Given the description of an element on the screen output the (x, y) to click on. 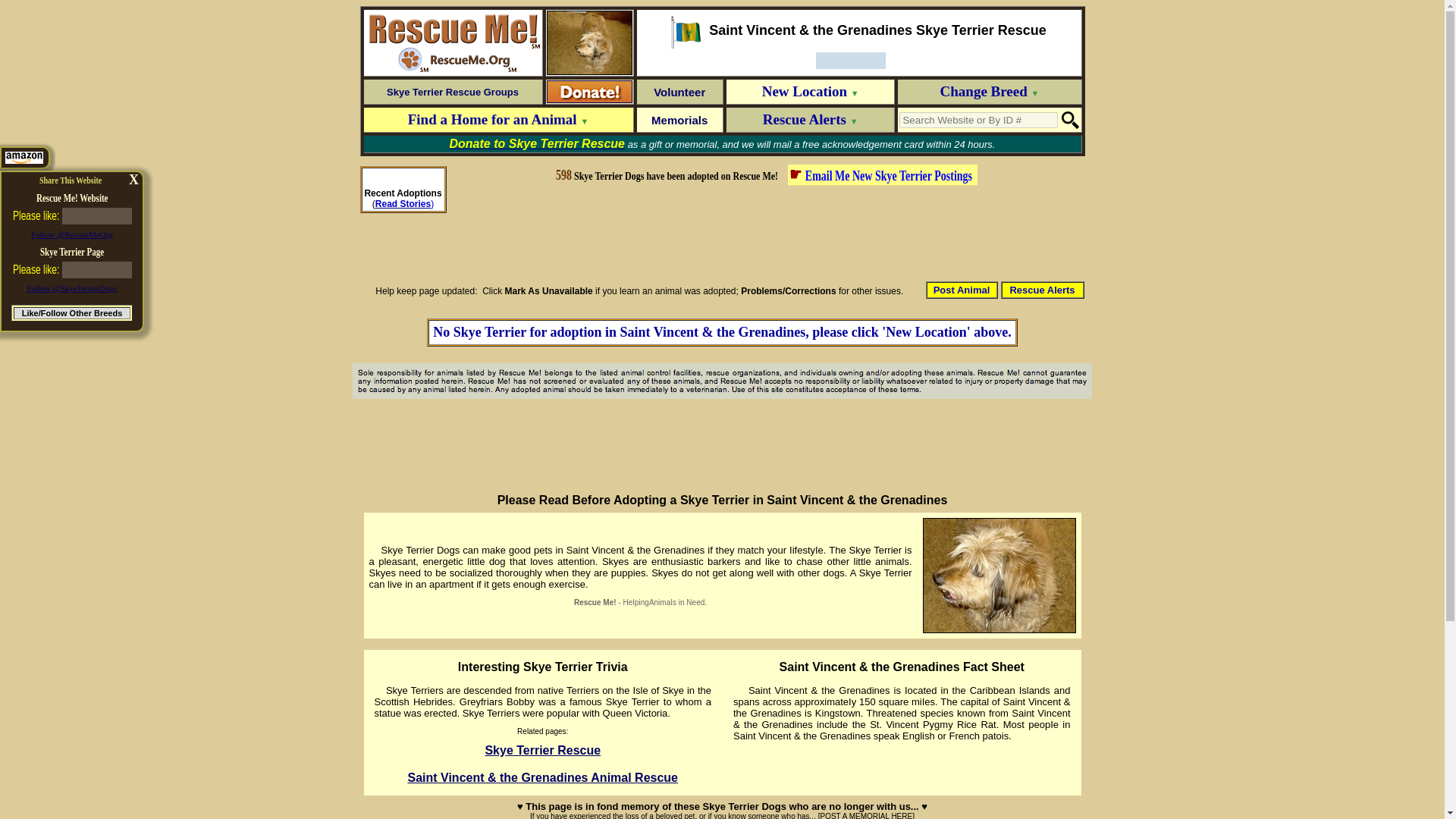
Email Me New Skye Terrier Postings  (890, 173)
Skye Terrier Rescue Groups (452, 91)
Read Stories (402, 204)
POST A MEMORIAL HERE (865, 815)
 Post Animal  (961, 288)
 Rescue Alerts  (1042, 288)
Skye Terrier Rescue (541, 749)
Advertisement (722, 444)
Volunteer (678, 91)
Donate to Skye Terrier Rescue (537, 143)
Advertisement (765, 233)
Memorials (678, 119)
